Given the description of an element on the screen output the (x, y) to click on. 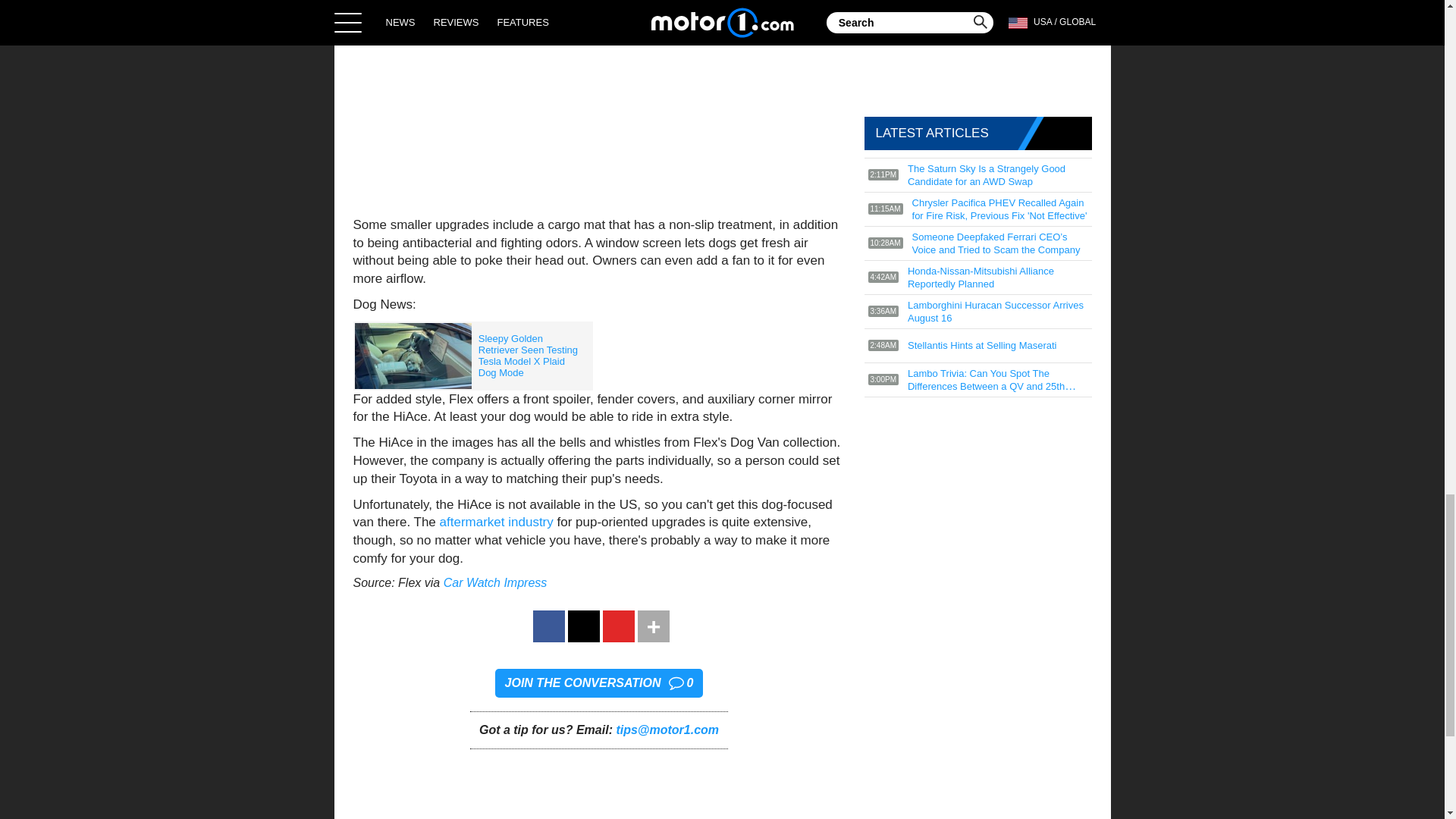
Car Watch Impress (495, 582)
aftermarket industry (496, 522)
